Given the description of an element on the screen output the (x, y) to click on. 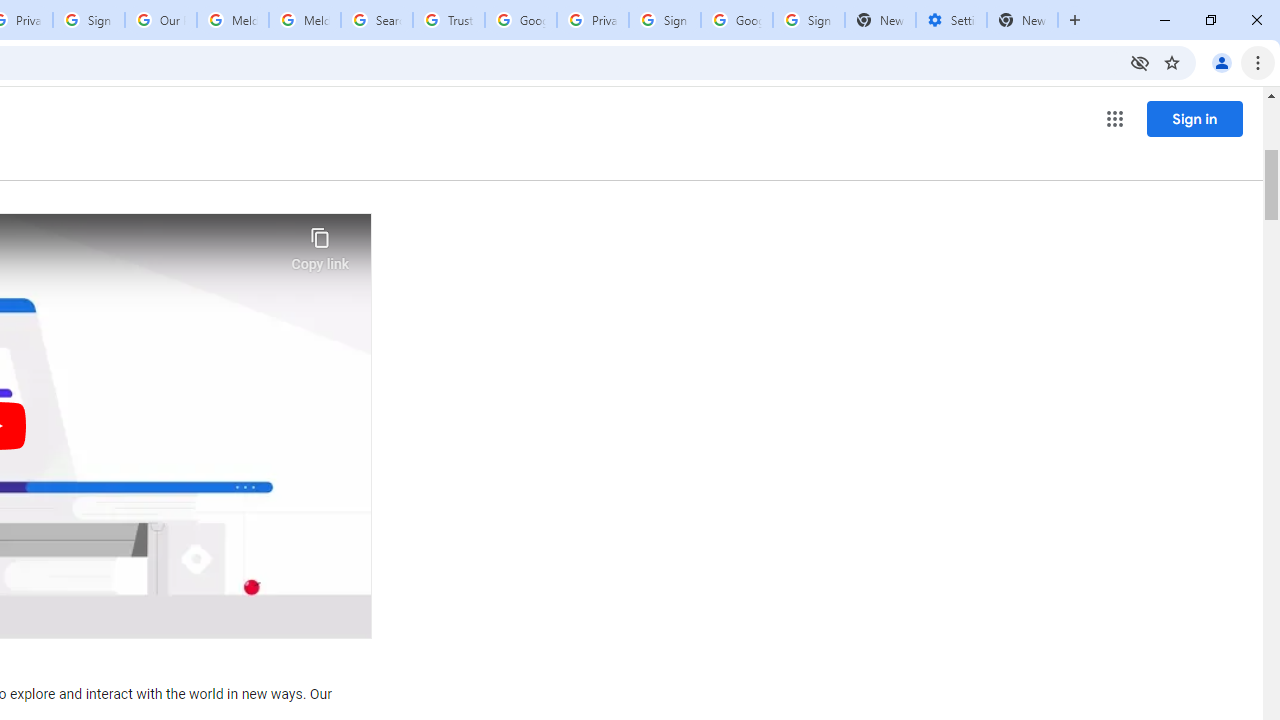
Google Ads - Sign in (520, 20)
Settings - Addresses and more (951, 20)
Sign in - Google Accounts (88, 20)
Trusted Information and Content - Google Safety Center (449, 20)
Sign in - Google Accounts (664, 20)
